Given the description of an element on the screen output the (x, y) to click on. 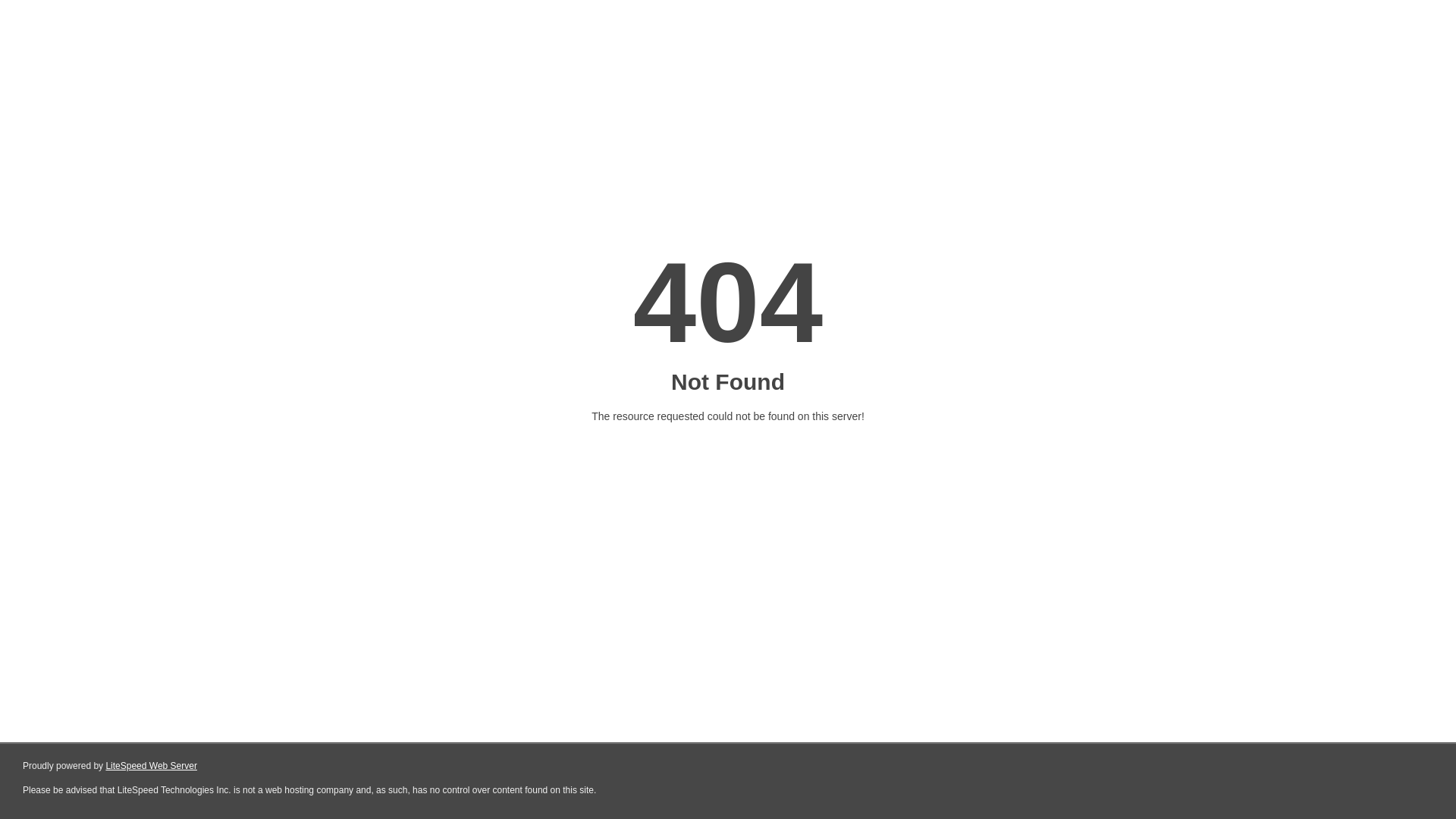
LiteSpeed Web Server Element type: text (151, 765)
